Given the description of an element on the screen output the (x, y) to click on. 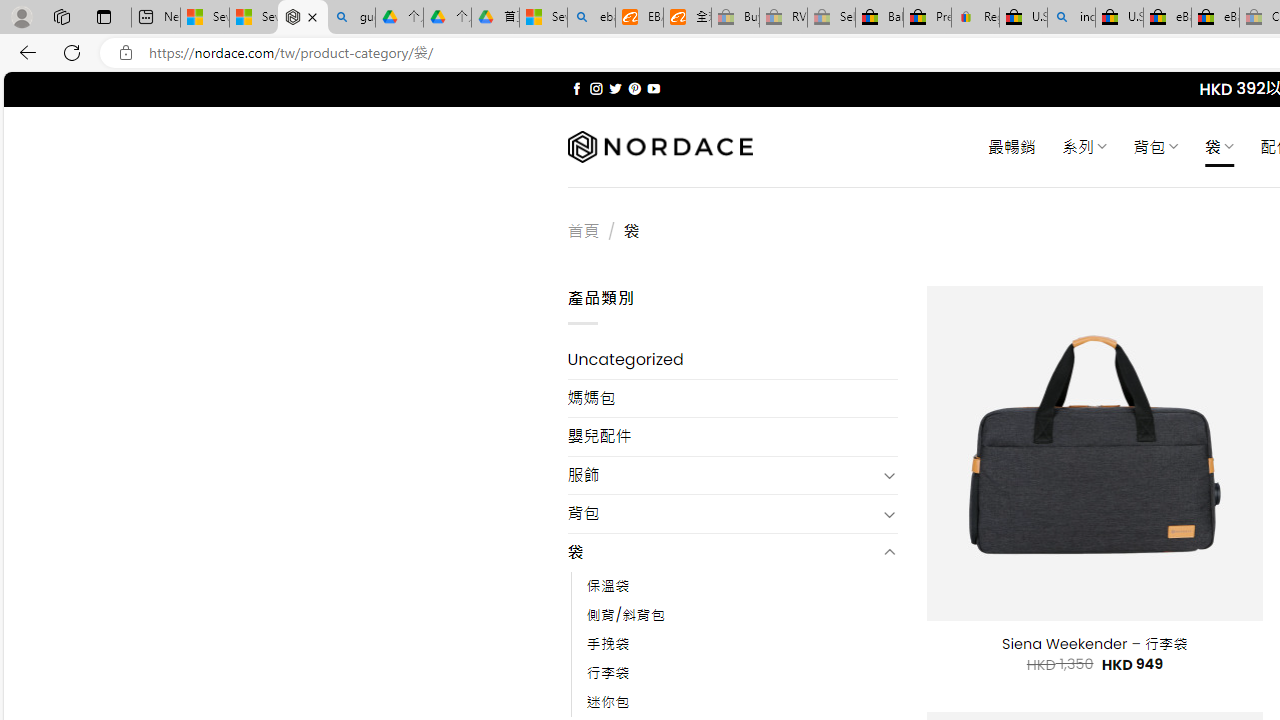
guge yunpan - Search (351, 17)
including - Search (1071, 17)
Register: Create a personal eBay account (975, 17)
